Given the description of an element on the screen output the (x, y) to click on. 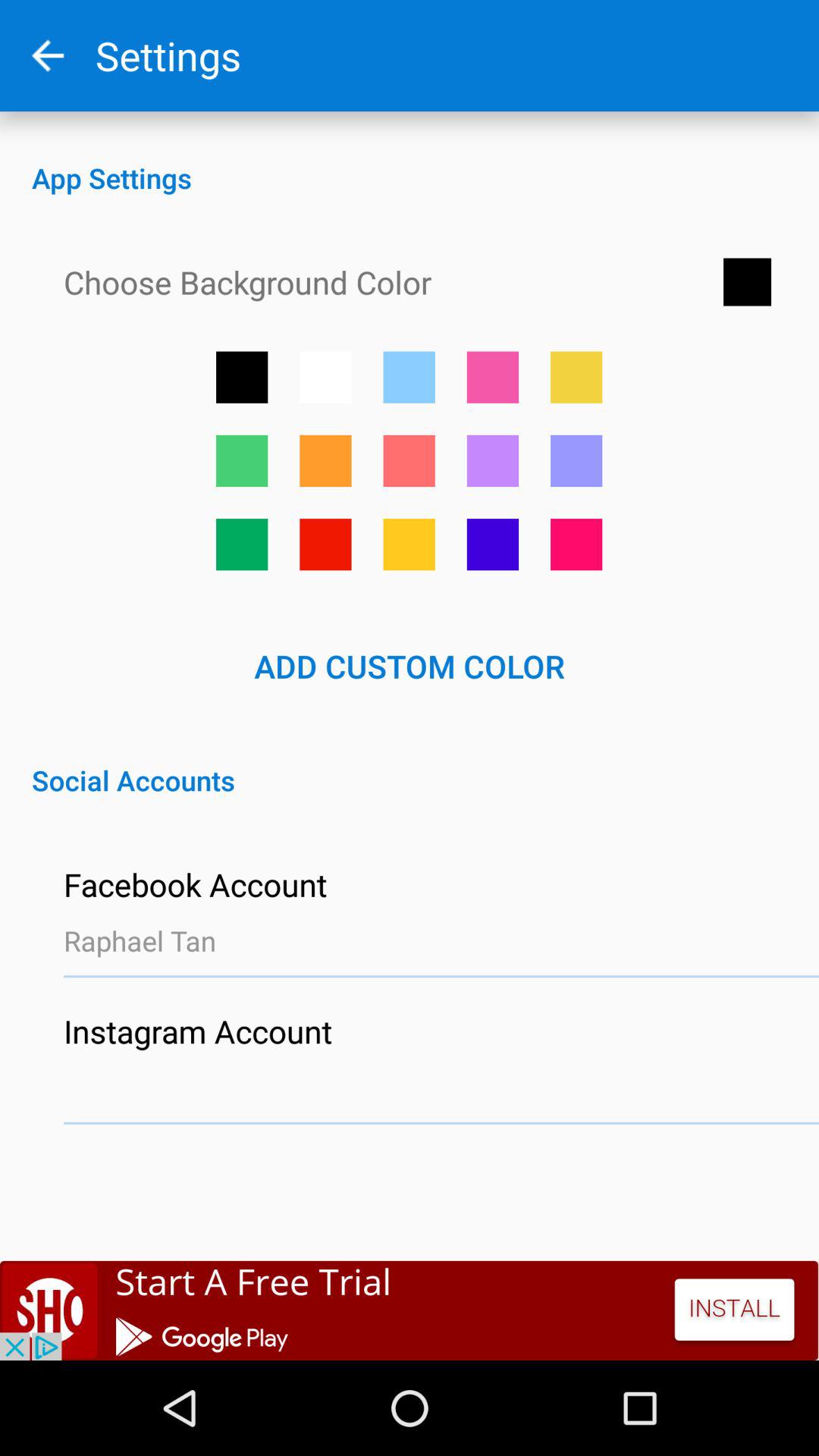
open the advertisement (409, 1310)
